Given the description of an element on the screen output the (x, y) to click on. 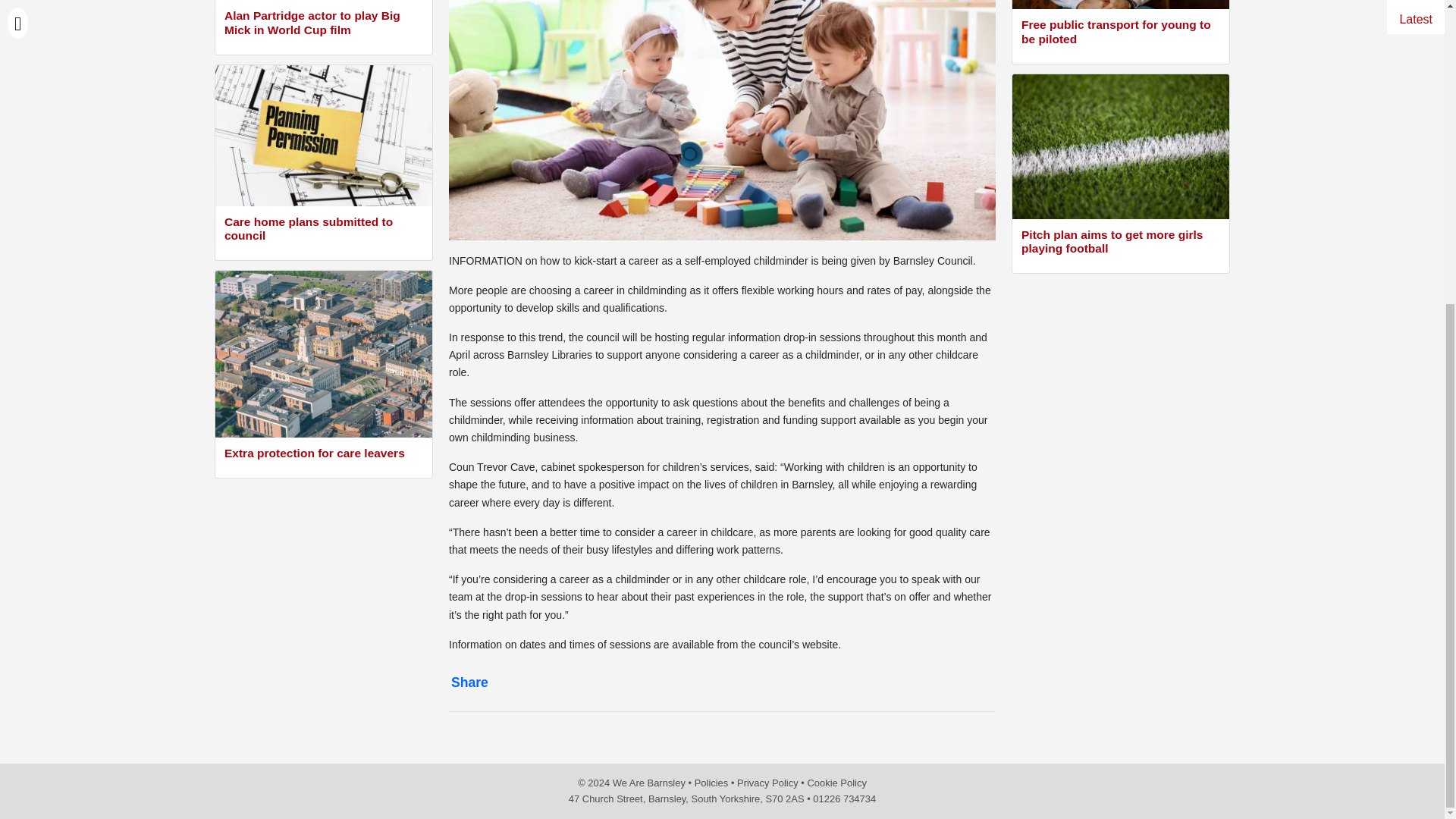
Extra protection for care leavers (323, 455)
Alan Partridge actor to play Big Mick in World Cup film (323, 24)
Free public transport for young to be piloted (1121, 33)
Care home plans submitted to council (323, 230)
